Given the description of an element on the screen output the (x, y) to click on. 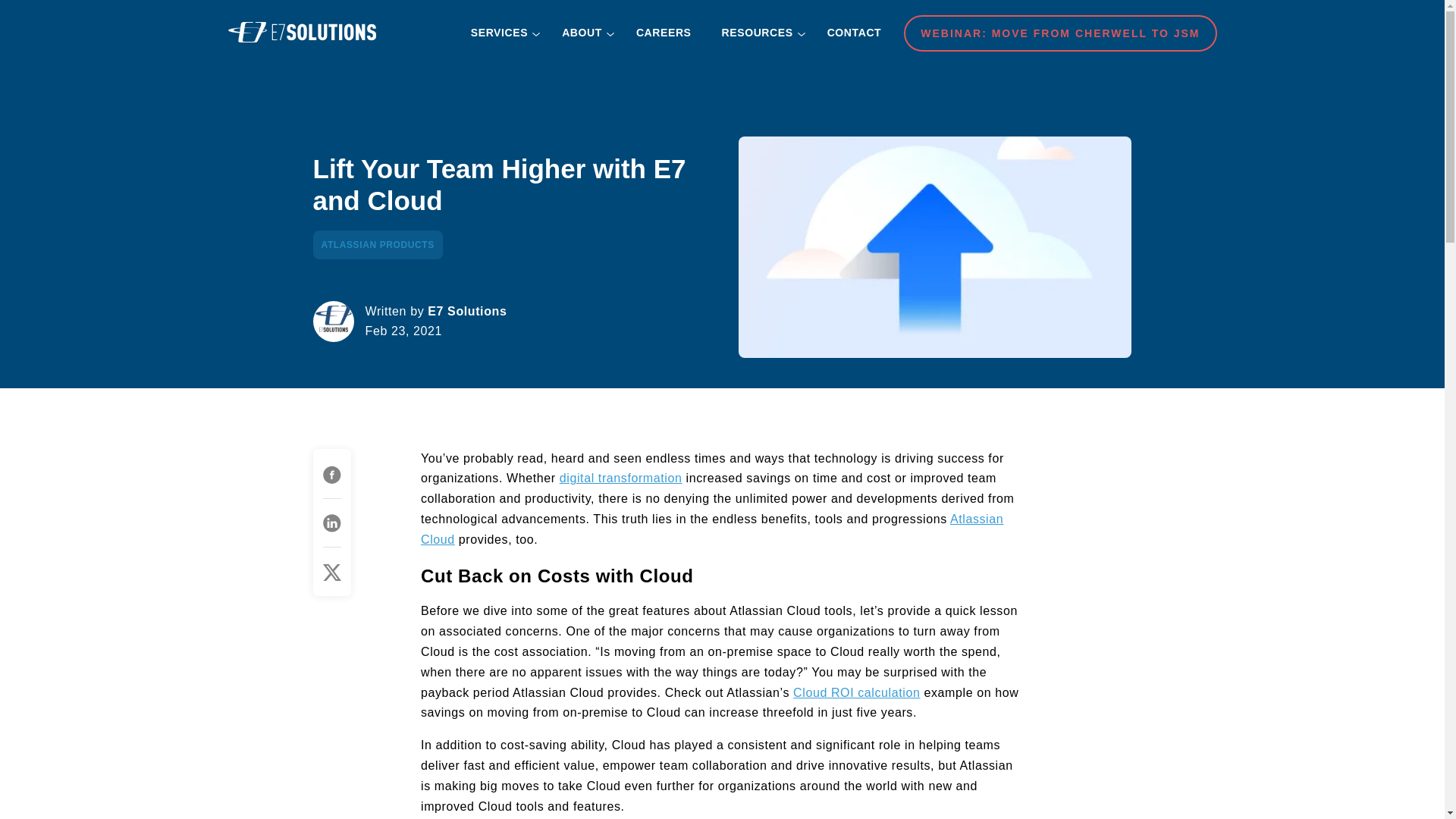
RESOURCES (759, 31)
SERVICES (500, 31)
E7 Solutions (301, 32)
WEBINAR: MOVE FROM CHERWELL TO JSM (1059, 33)
ABOUT (583, 31)
CONTACT (854, 31)
CAREERS (663, 31)
